Given the description of an element on the screen output the (x, y) to click on. 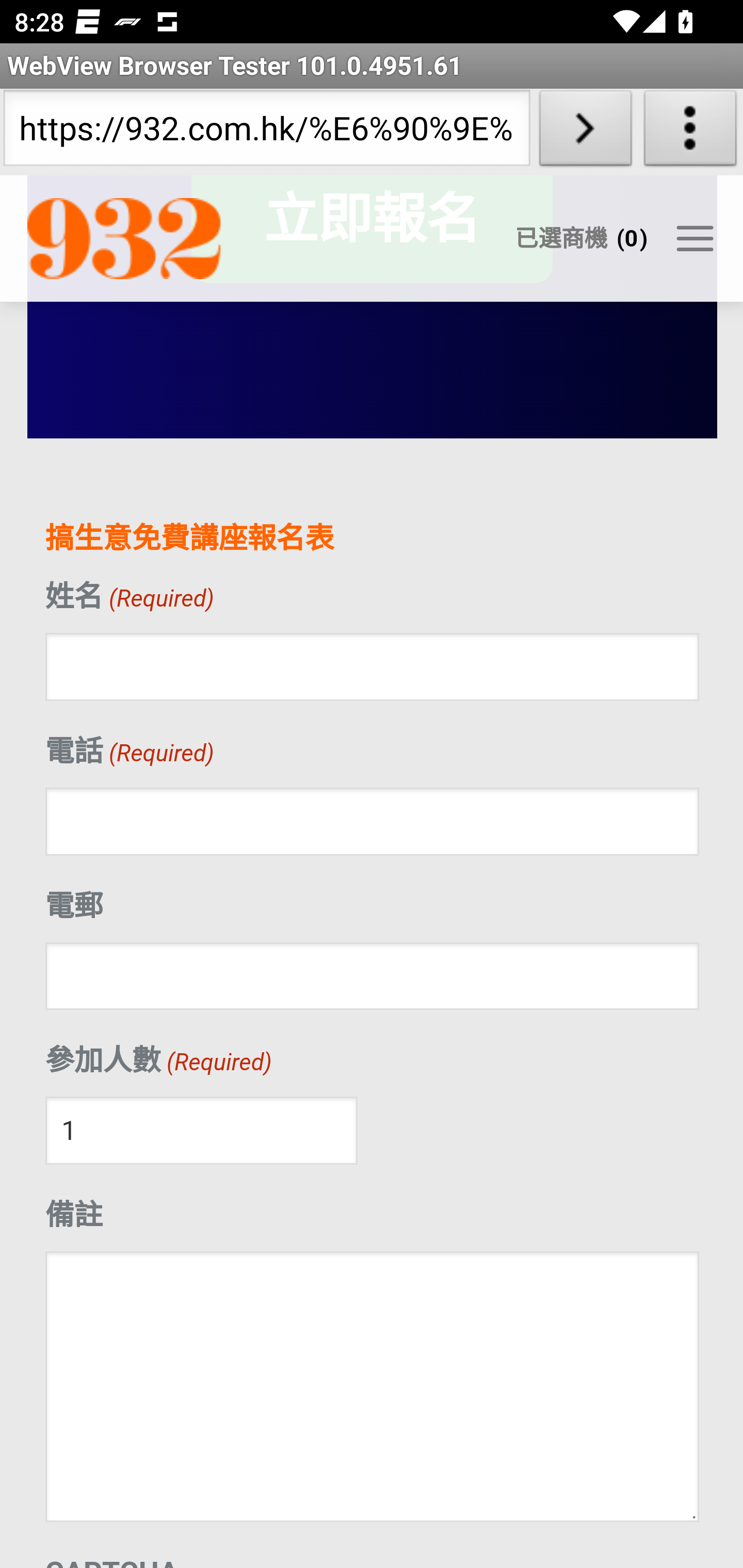
Load URL (585, 132)
About WebView (690, 132)
立即報名 (370, 230)
1, 參加人數(Required) (200, 1131)
